Given the description of an element on the screen output the (x, y) to click on. 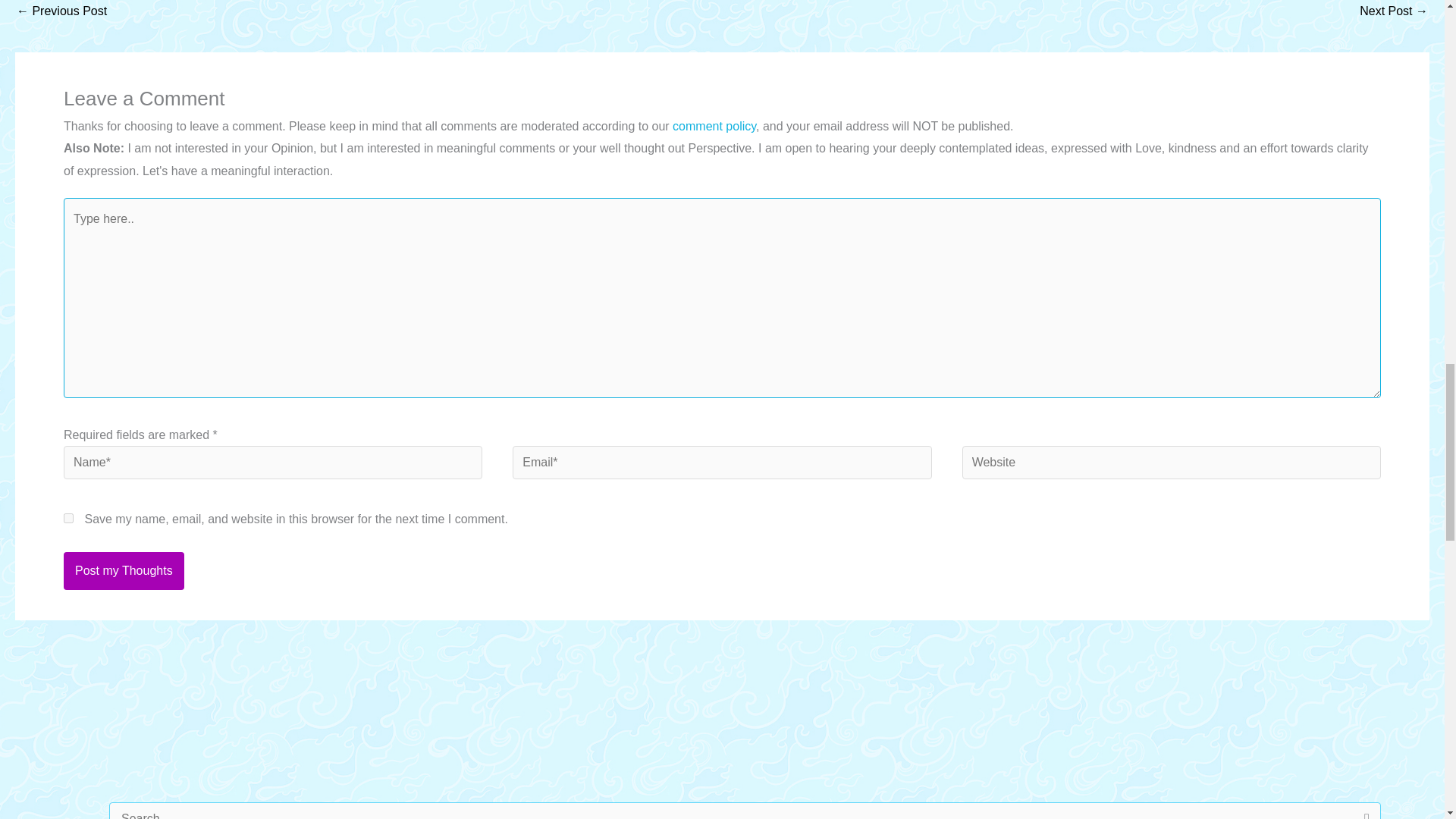
Search (1363, 810)
yes (69, 518)
On Living the Higher Spiritual Path (61, 13)
Search (1363, 810)
Search (1363, 810)
Post my Thoughts (124, 570)
comment policy (713, 125)
Post my Thoughts (124, 570)
